Given the description of an element on the screen output the (x, y) to click on. 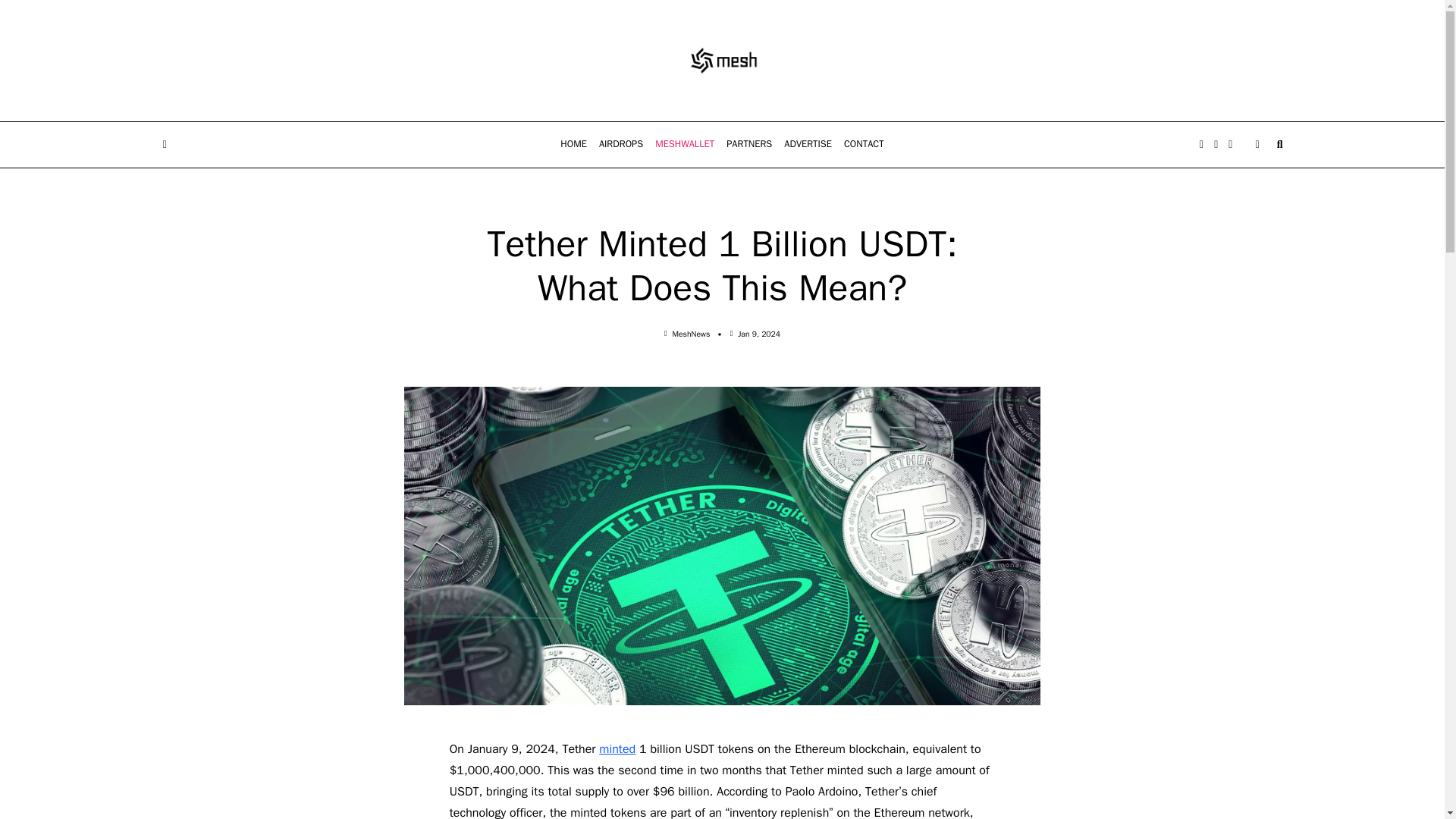
CONTACT (863, 144)
MESHWALLET (684, 144)
AIRDROPS (620, 144)
PARTNERS (748, 144)
minted (616, 749)
HOME (573, 144)
ADVERTISE (807, 144)
